Given the description of an element on the screen output the (x, y) to click on. 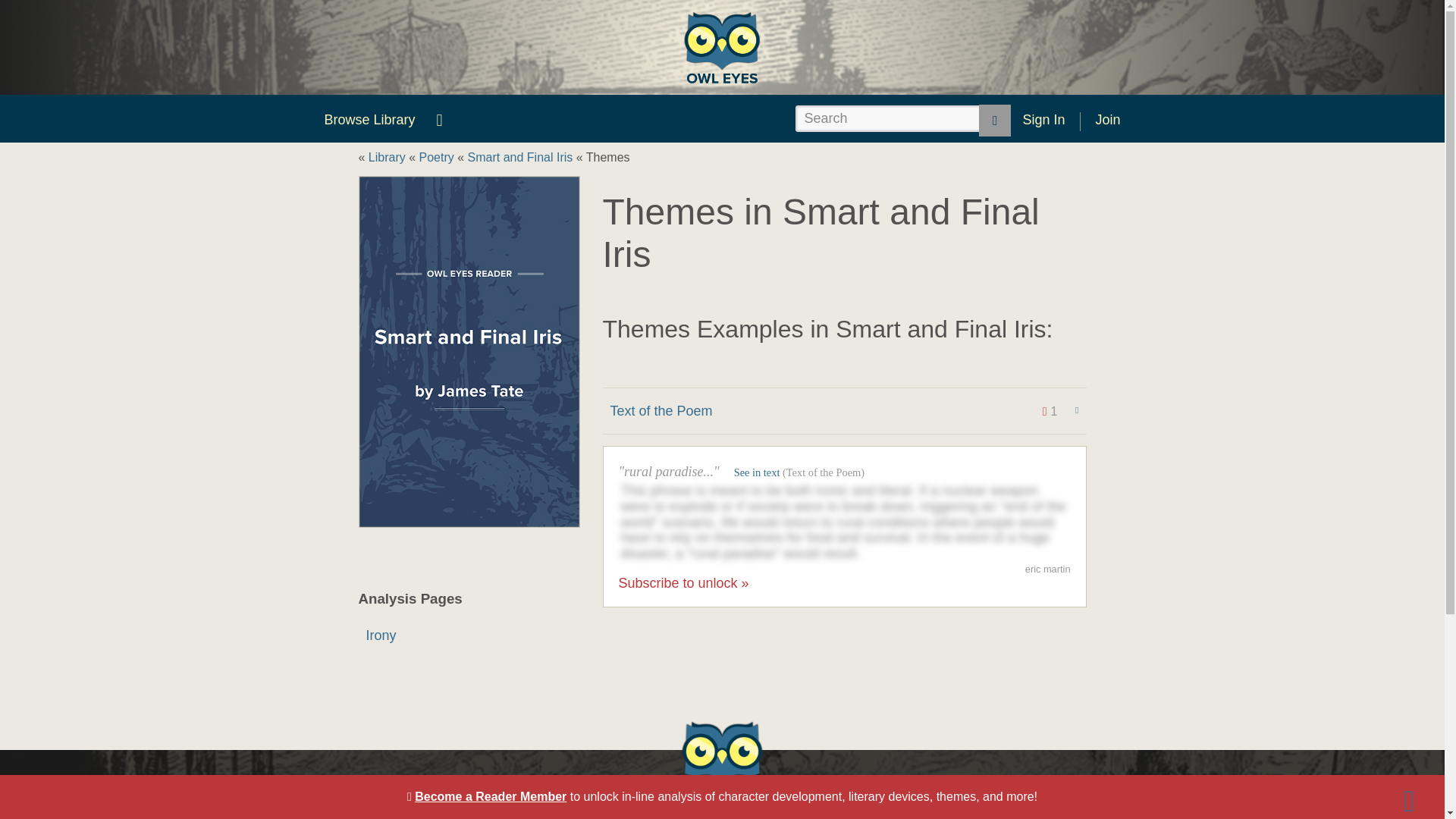
Join (1107, 119)
Sign In (1042, 119)
Smart and Final Iris Irony (468, 635)
Browse Library (369, 119)
